Given the description of an element on the screen output the (x, y) to click on. 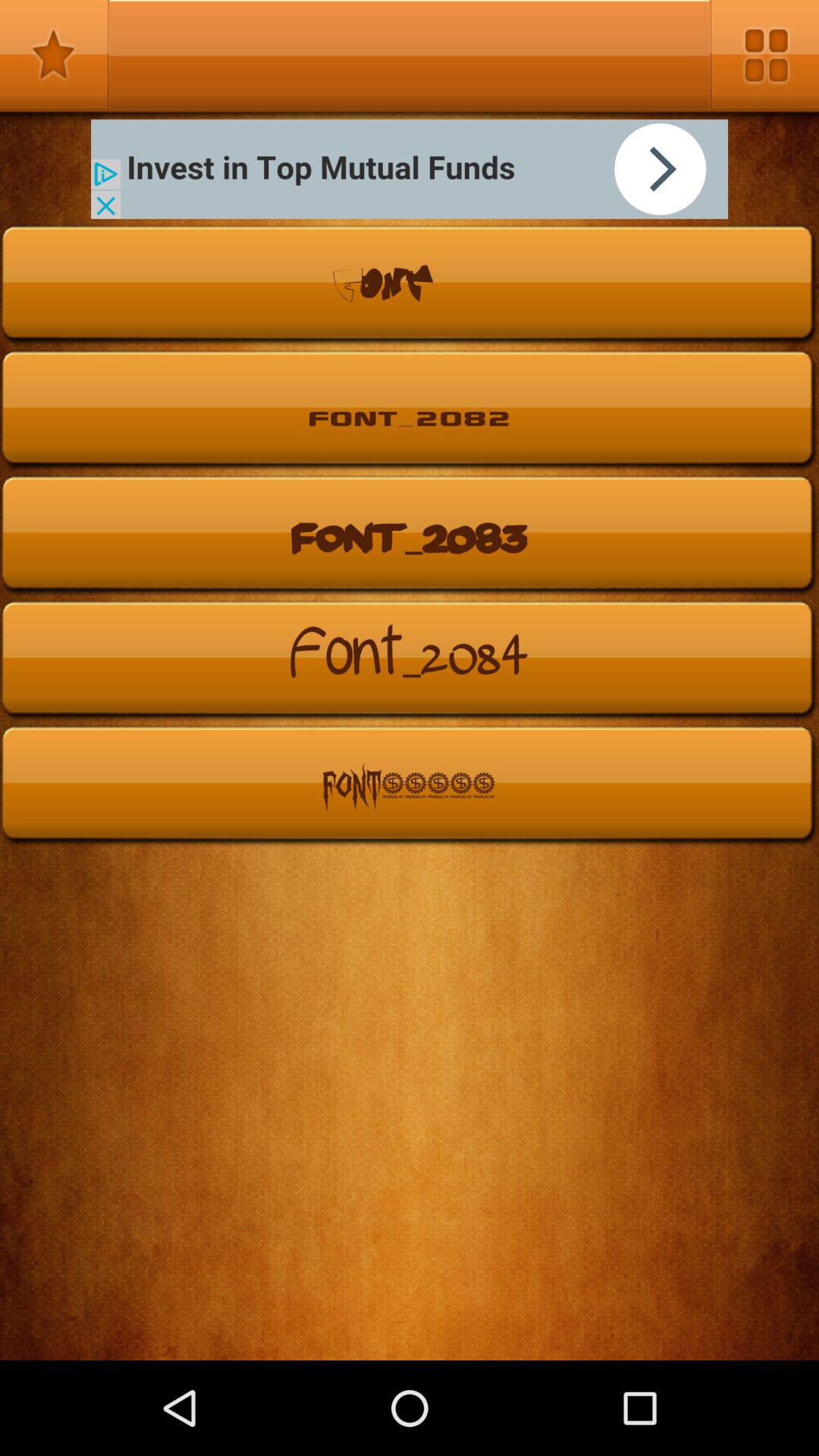
advertisement banner (409, 168)
